Given the description of an element on the screen output the (x, y) to click on. 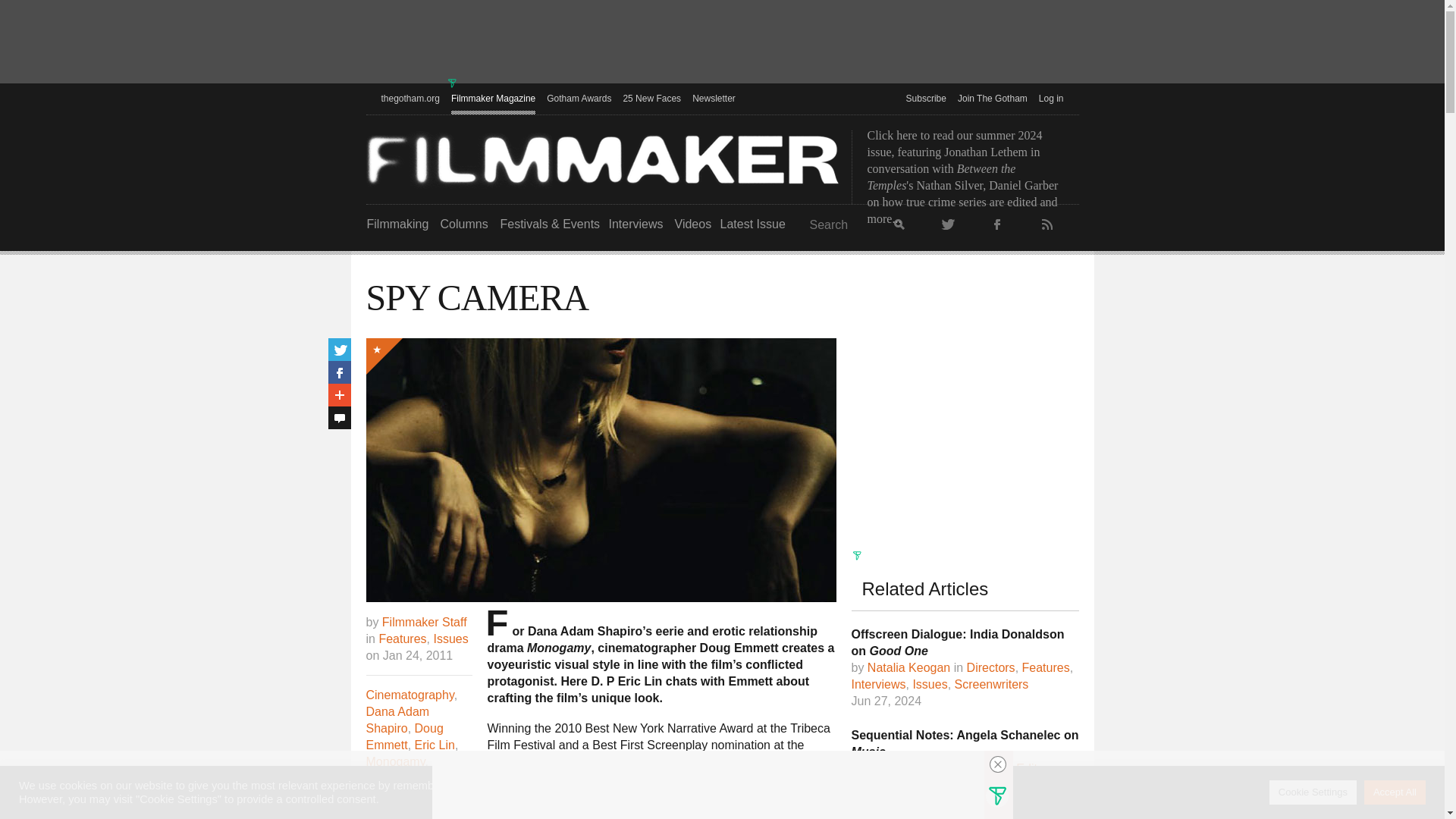
Filmmaking (397, 223)
Filmmaker (602, 159)
Posts by Natalia Keogan (908, 667)
Posts by Filmmaker Staff (424, 622)
3rd party ad content (721, 43)
Posts by Graham Swon (905, 768)
Columns (463, 223)
3rd party ad content (964, 432)
